Given the description of an element on the screen output the (x, y) to click on. 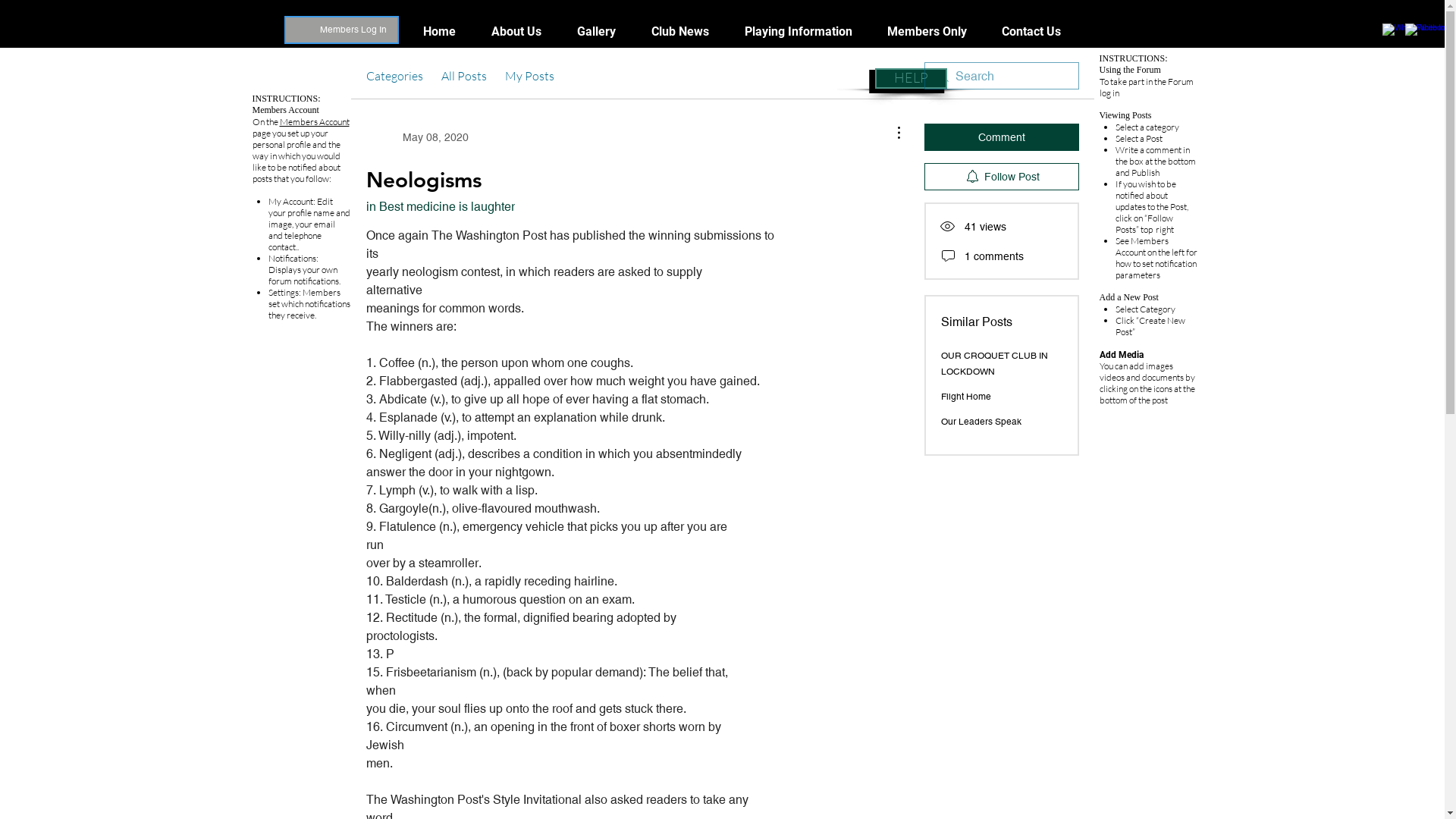
Follow Post Element type: text (1000, 176)
Comment Element type: text (1000, 136)
HELP Element type: text (911, 78)
Our Leaders Speak Element type: text (980, 421)
My Posts Element type: text (529, 75)
Home Element type: text (438, 31)
All Posts Element type: text (463, 75)
Club News Element type: text (680, 31)
in Best medicine is laughter Element type: text (439, 206)
Members Account Element type: text (313, 121)
Playing Information Element type: text (797, 31)
Categories Element type: text (393, 75)
OUR CROQUET CLUB IN LOCKDOWN Element type: text (993, 363)
Flight Home Element type: text (965, 396)
Gallery Element type: text (596, 31)
About Us Element type: text (515, 31)
Contact Us Element type: text (1031, 31)
Members Log In Element type: text (353, 29)
May 08, 2020 Element type: text (416, 136)
Members Only Element type: text (926, 31)
